Given the description of an element on the screen output the (x, y) to click on. 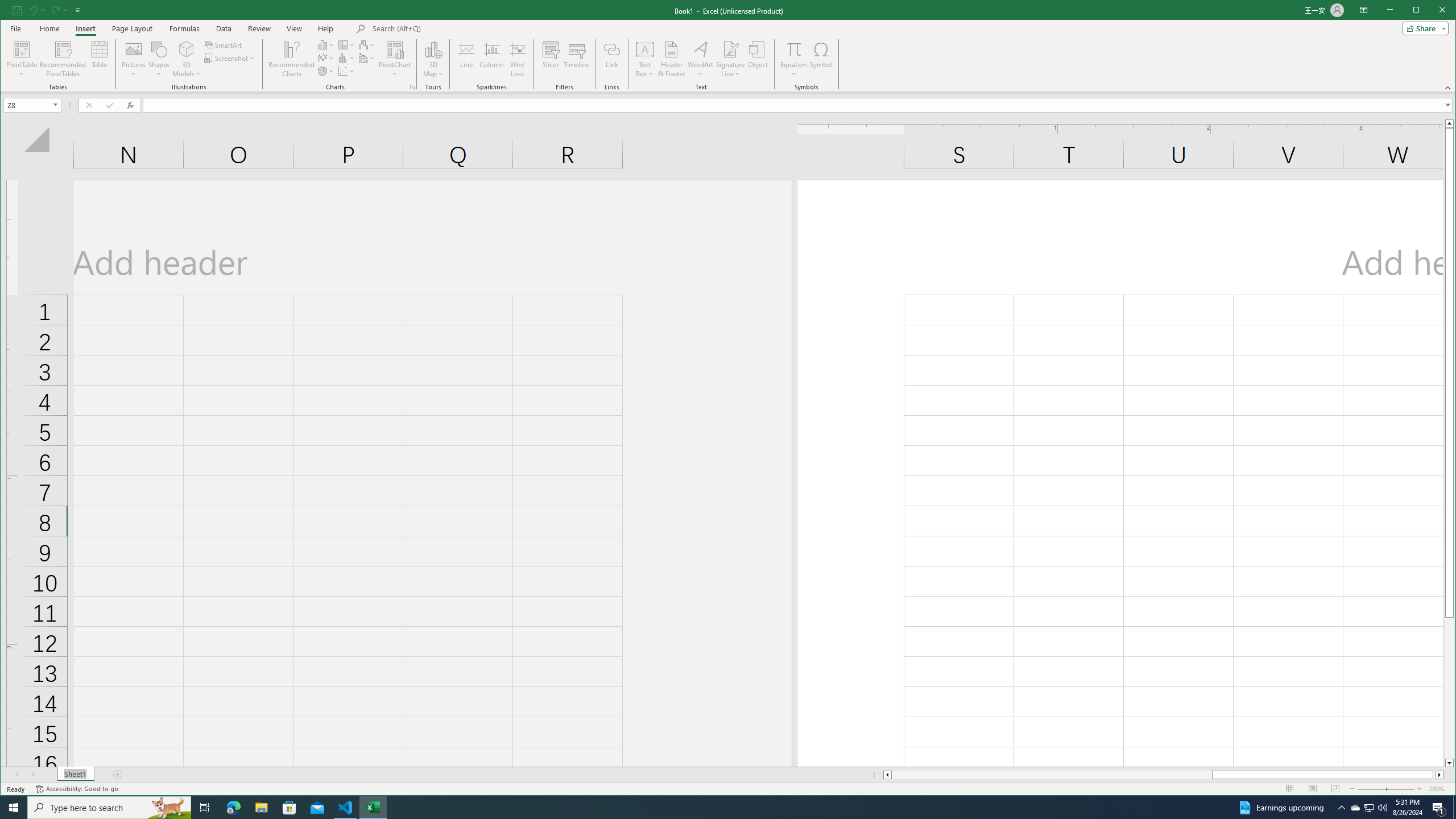
Equation (793, 48)
Insert Line or Area Chart (325, 57)
Action Center, 1 new notification (1439, 807)
Equation (793, 59)
3D Models (186, 48)
Microsoft search (451, 28)
SmartArt... (224, 44)
Recommended Charts (411, 86)
